Given the description of an element on the screen output the (x, y) to click on. 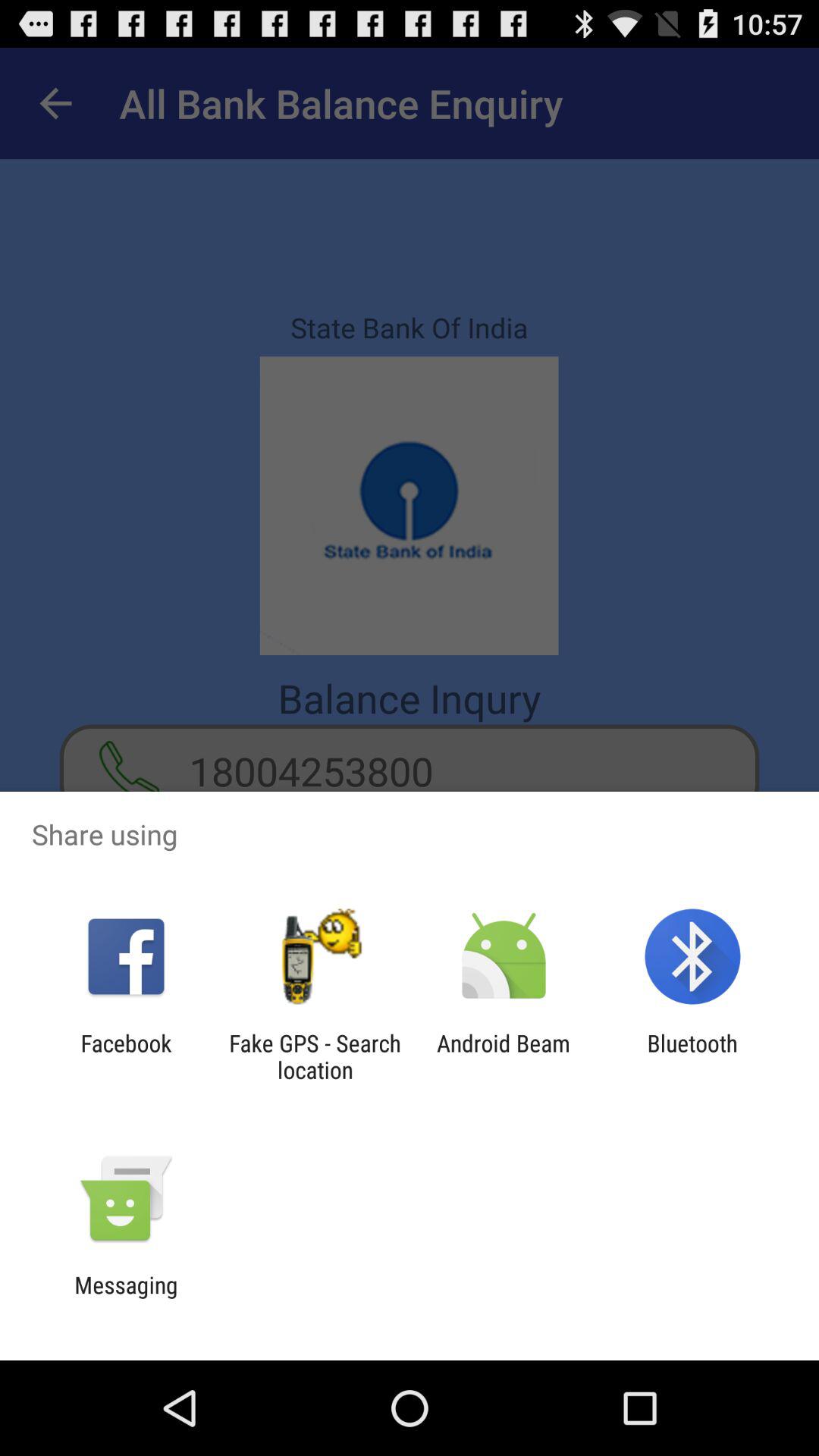
turn on the android beam item (503, 1056)
